Given the description of an element on the screen output the (x, y) to click on. 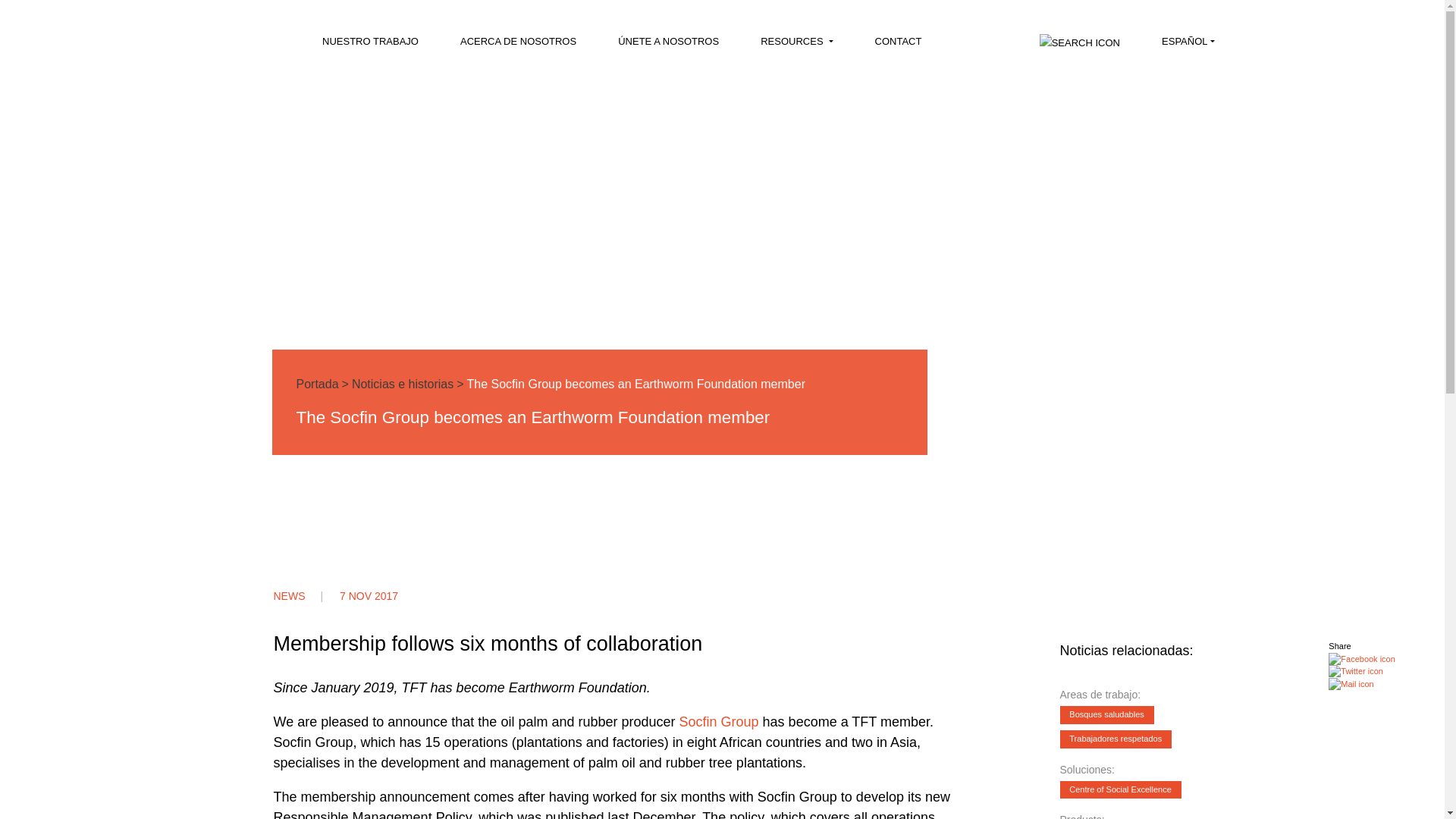
CONTACT (895, 45)
Noticias e historias (402, 383)
Centre of Social Excellence (1119, 790)
Trabajadores respetados (1115, 739)
Bosques saludables (1106, 714)
Trabajadores respetados (1116, 737)
NUESTRO TRABAJO (368, 45)
Portada (316, 383)
Share on Facebook (1360, 658)
ACERCA DE NOSOTROS (516, 45)
